Given the description of an element on the screen output the (x, y) to click on. 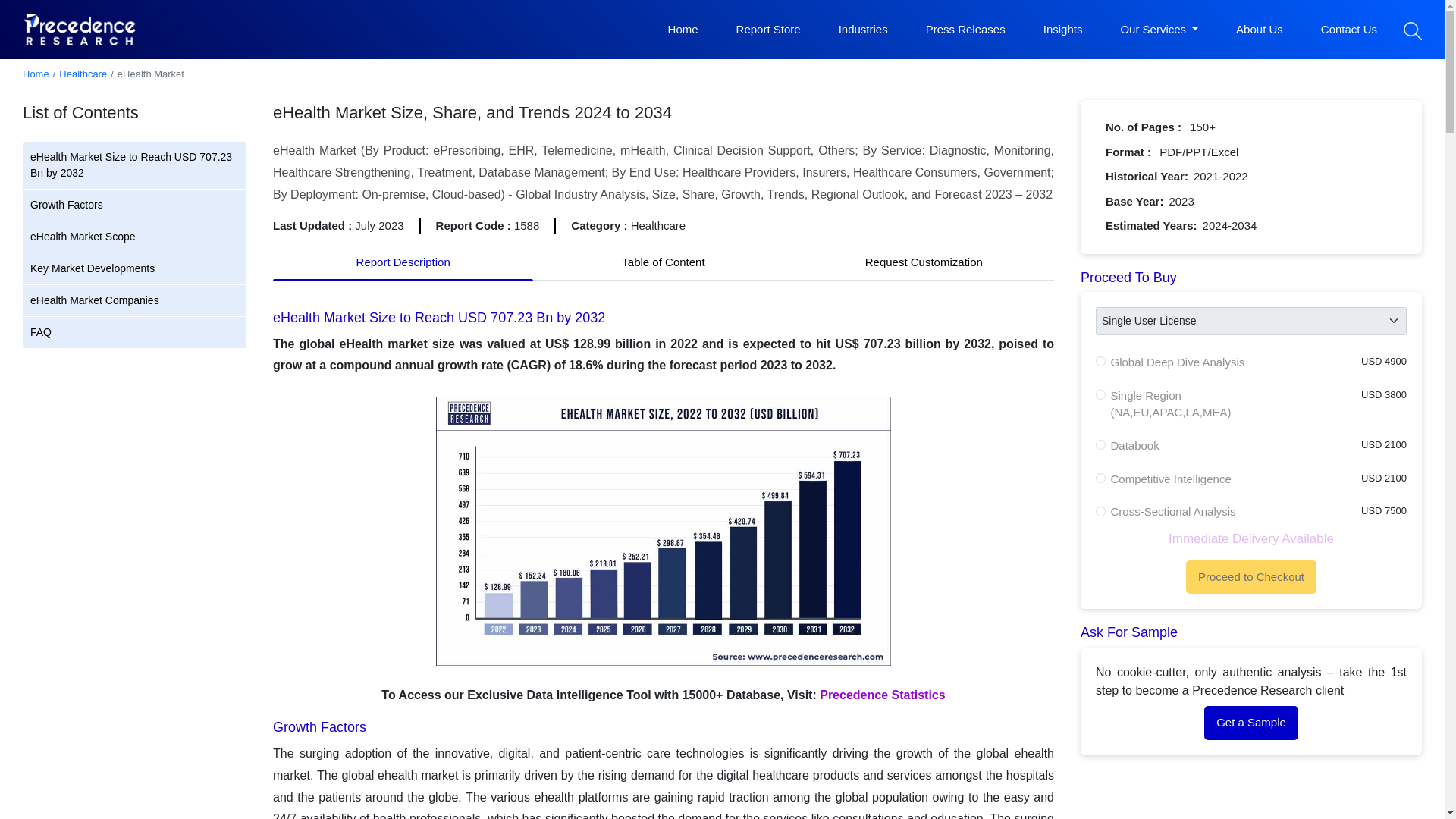
comp (1100, 478)
Contact Us (1348, 29)
About Us (1259, 29)
Our Services (1158, 29)
Home (683, 29)
Precedence Research (79, 29)
Insights (1063, 29)
databook (1100, 444)
sine (1100, 361)
cross (1100, 511)
Press Releases (966, 29)
multi (1100, 394)
Industries (863, 29)
eHealth Market Size 2023 to 2032 (663, 533)
Report Store (768, 29)
